Given the description of an element on the screen output the (x, y) to click on. 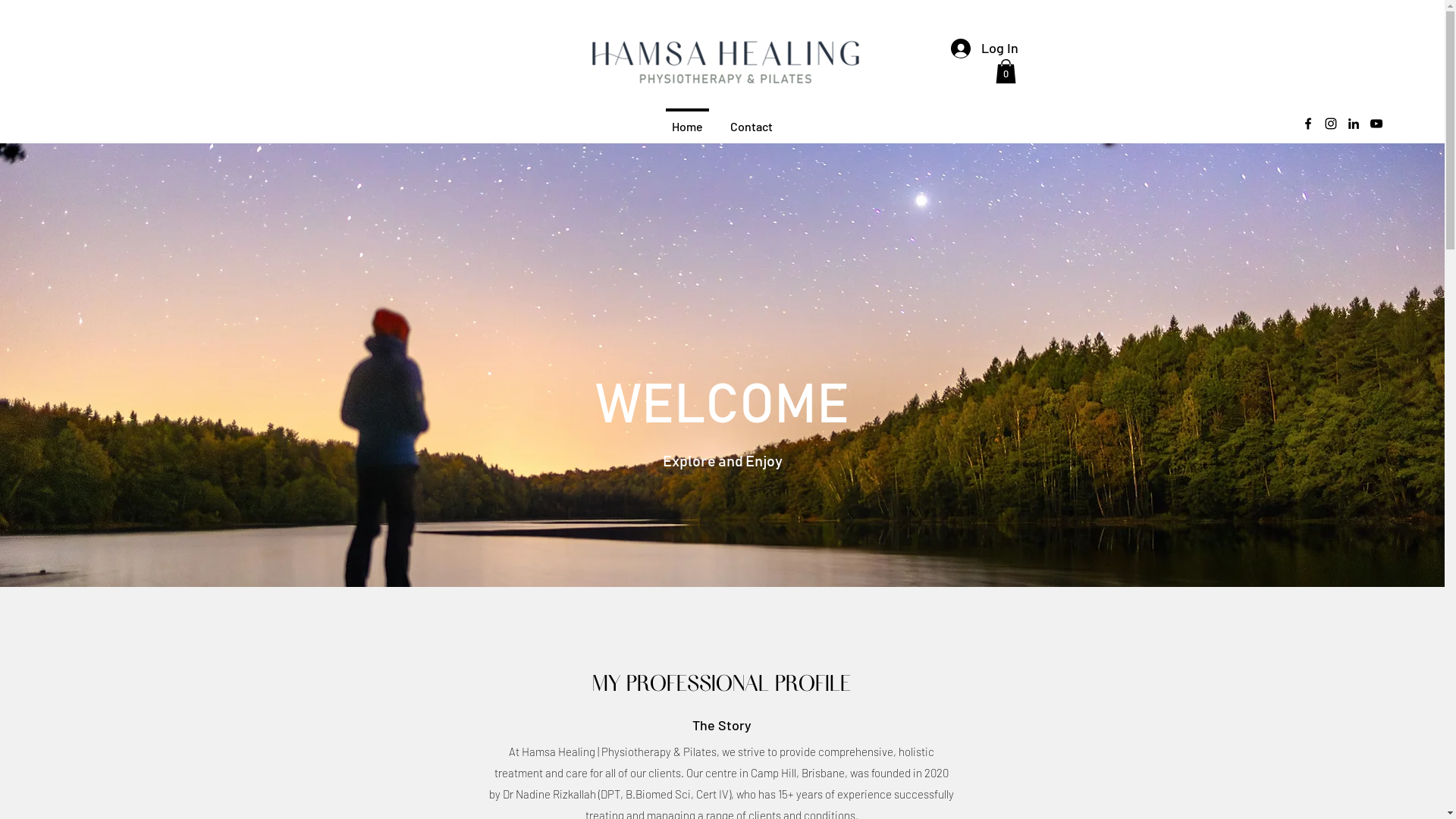
Log In Element type: text (984, 48)
0 Element type: text (1004, 71)
Contact Element type: text (751, 119)
Home Element type: text (687, 119)
